Given the description of an element on the screen output the (x, y) to click on. 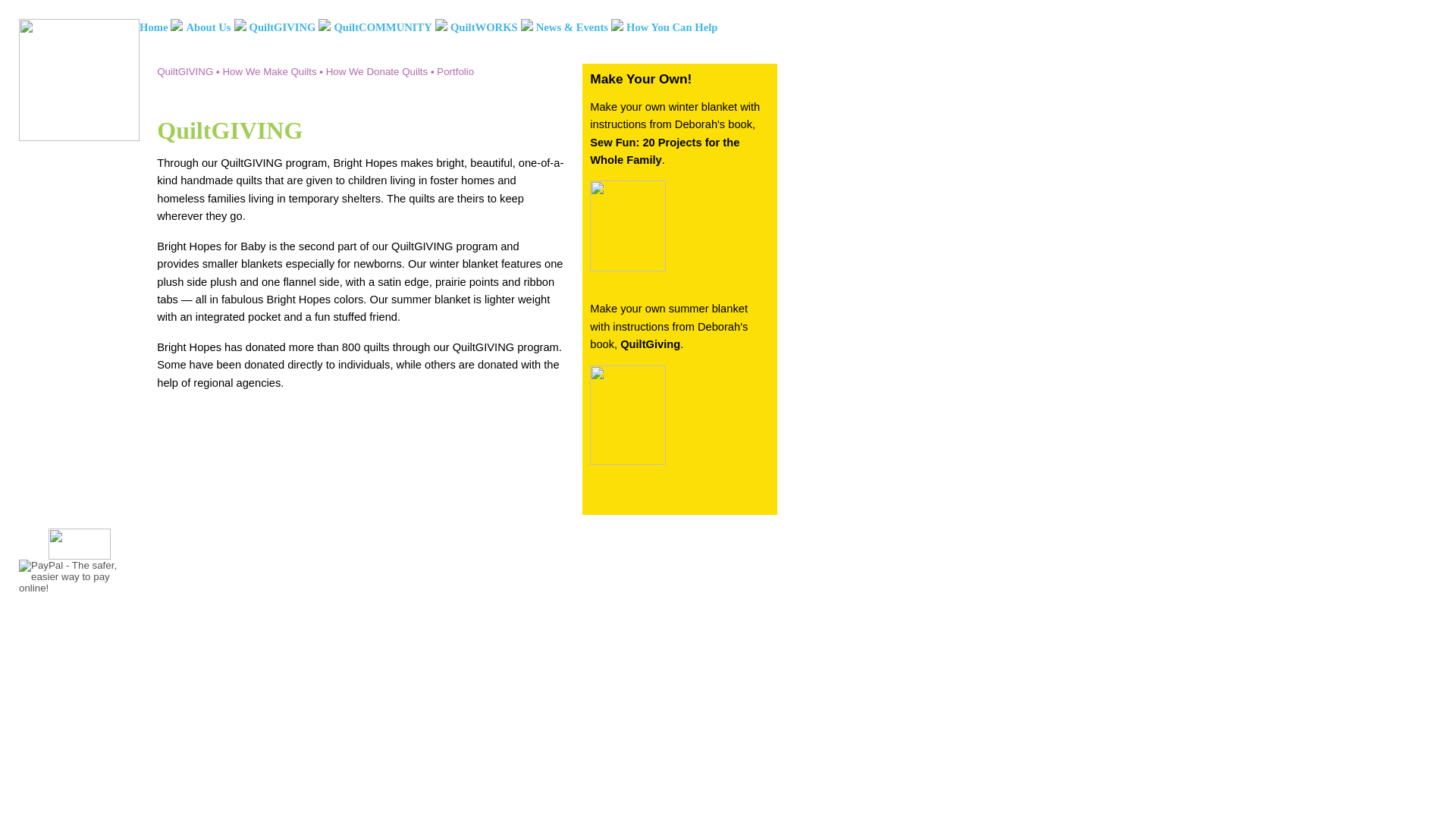
Portfolio (455, 71)
QuiltWORKS (483, 27)
Home (153, 27)
QuiltGIVING (281, 27)
How You Can Help (671, 27)
QuiltCOMMUNITY (381, 27)
About Us (208, 27)
